Given the description of an element on the screen output the (x, y) to click on. 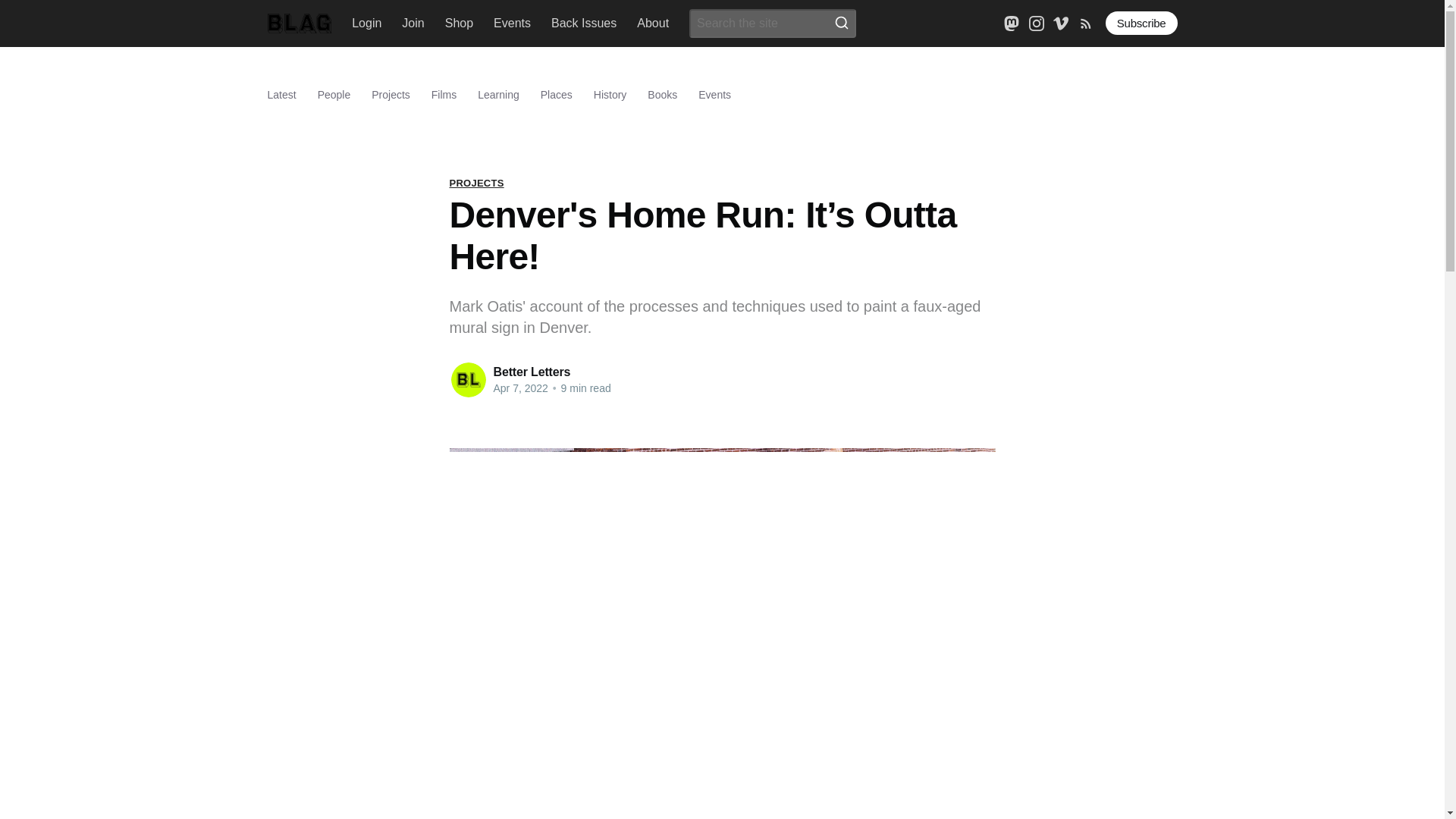
Vimeo (1060, 23)
People (333, 95)
RSS (1085, 21)
Places (555, 95)
Mastodon (1011, 23)
Login (366, 22)
History (610, 95)
Events (512, 22)
Shop (459, 22)
Back Issues (583, 22)
